Given the description of an element on the screen output the (x, y) to click on. 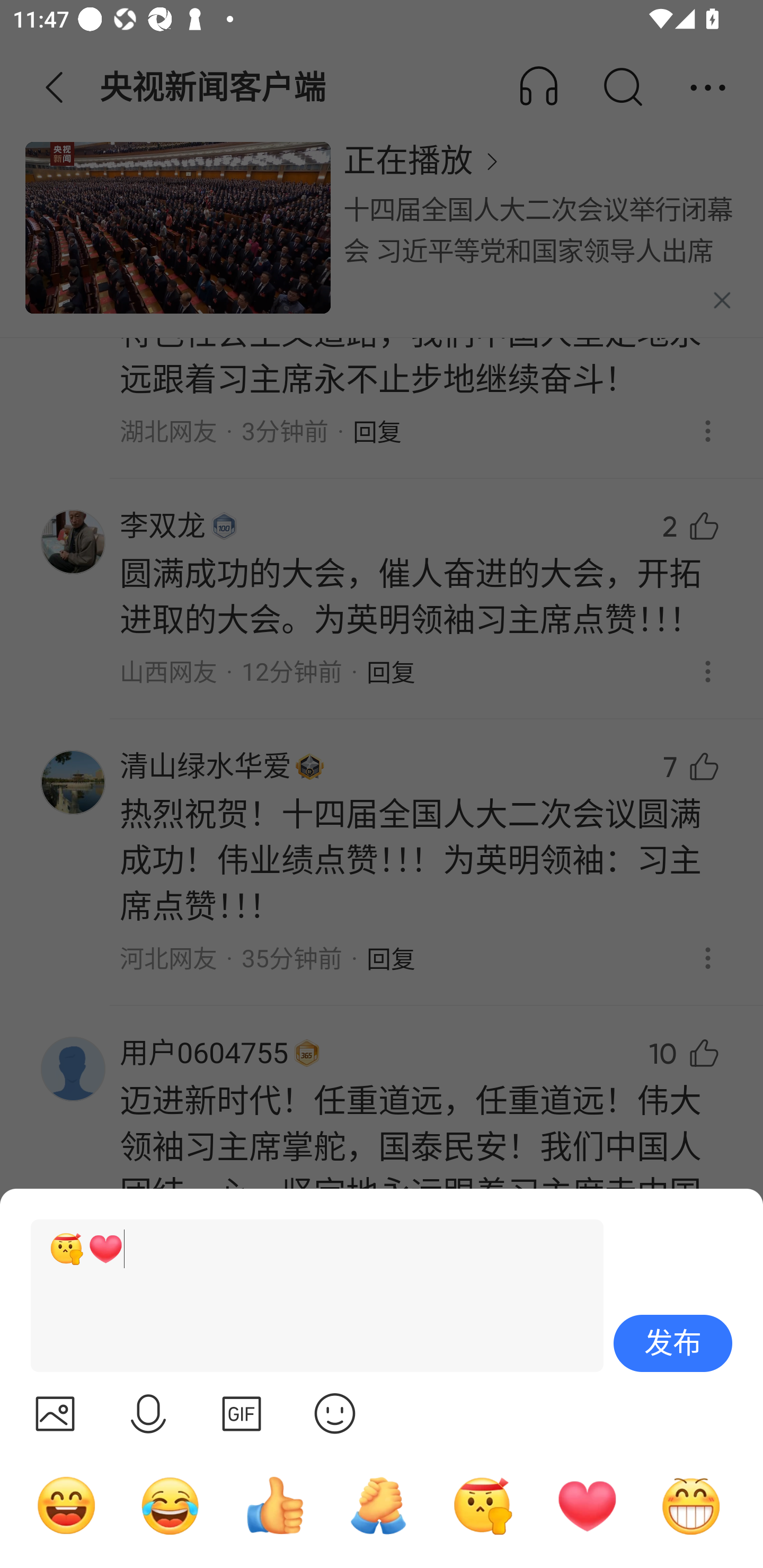
[奋斗][心] (308, 1295)
发布 (672, 1343)
 (54, 1413)
 (148, 1413)
 (241, 1413)
 (334, 1413)
哈哈 (66, 1505)
哭笑 (170, 1505)
点赞 (274, 1505)
加油 (378, 1505)
奋斗 (482, 1505)
心 (586, 1505)
呲牙 (690, 1505)
